Given the description of an element on the screen output the (x, y) to click on. 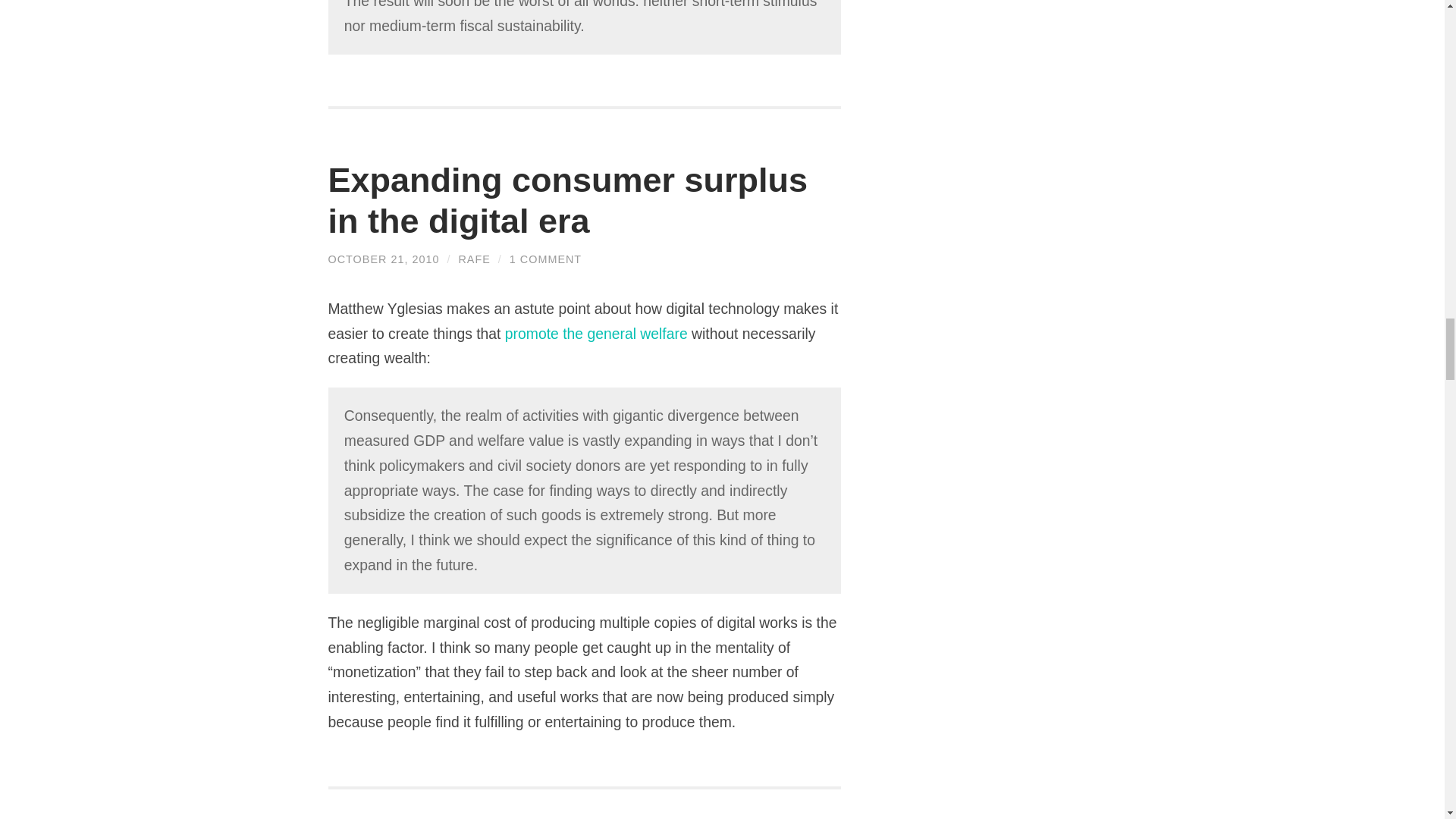
OCTOBER 21, 2010 (383, 259)
Expanding consumer surplus in the digital era (383, 259)
promote the general welfare (596, 333)
1 COMMENT (544, 259)
RAFE (473, 259)
Expanding consumer surplus in the digital era (567, 200)
Posts by Rafe (473, 259)
Expanding consumer surplus in the digital era (567, 200)
